Given the description of an element on the screen output the (x, y) to click on. 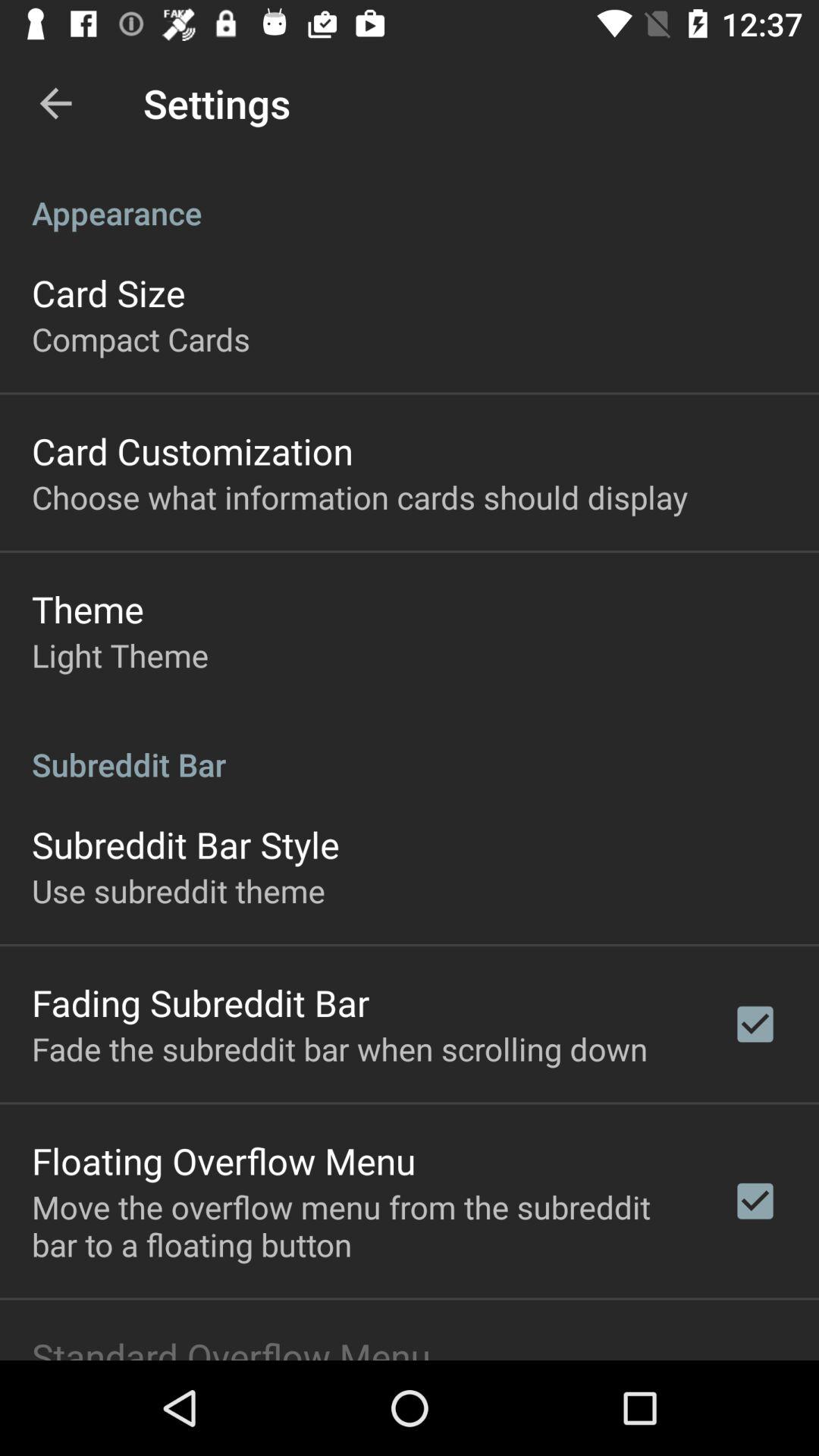
turn off the compact cards icon (140, 338)
